Given the description of an element on the screen output the (x, y) to click on. 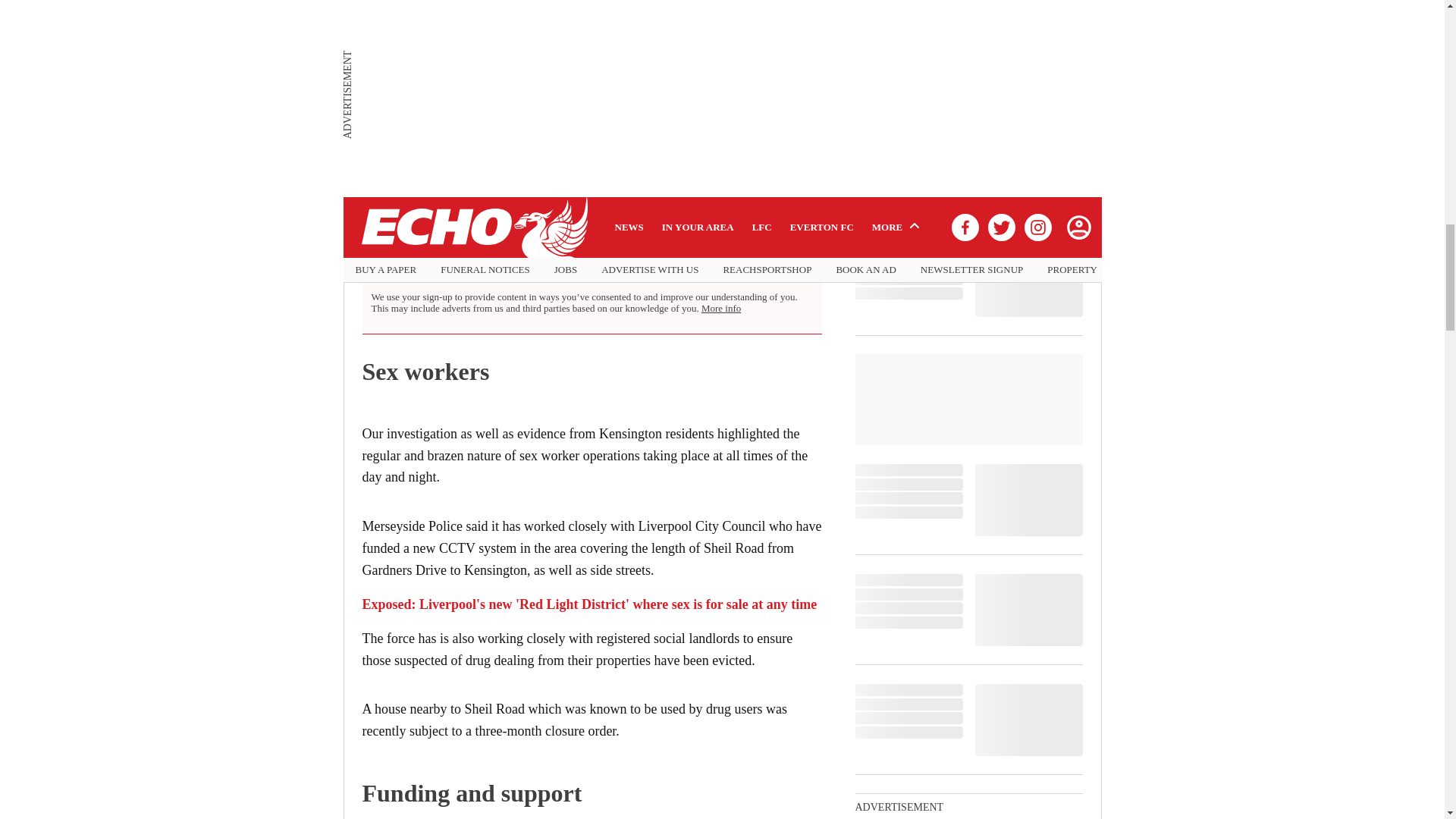
More info (721, 307)
Subscribe (771, 262)
